Given the description of an element on the screen output the (x, y) to click on. 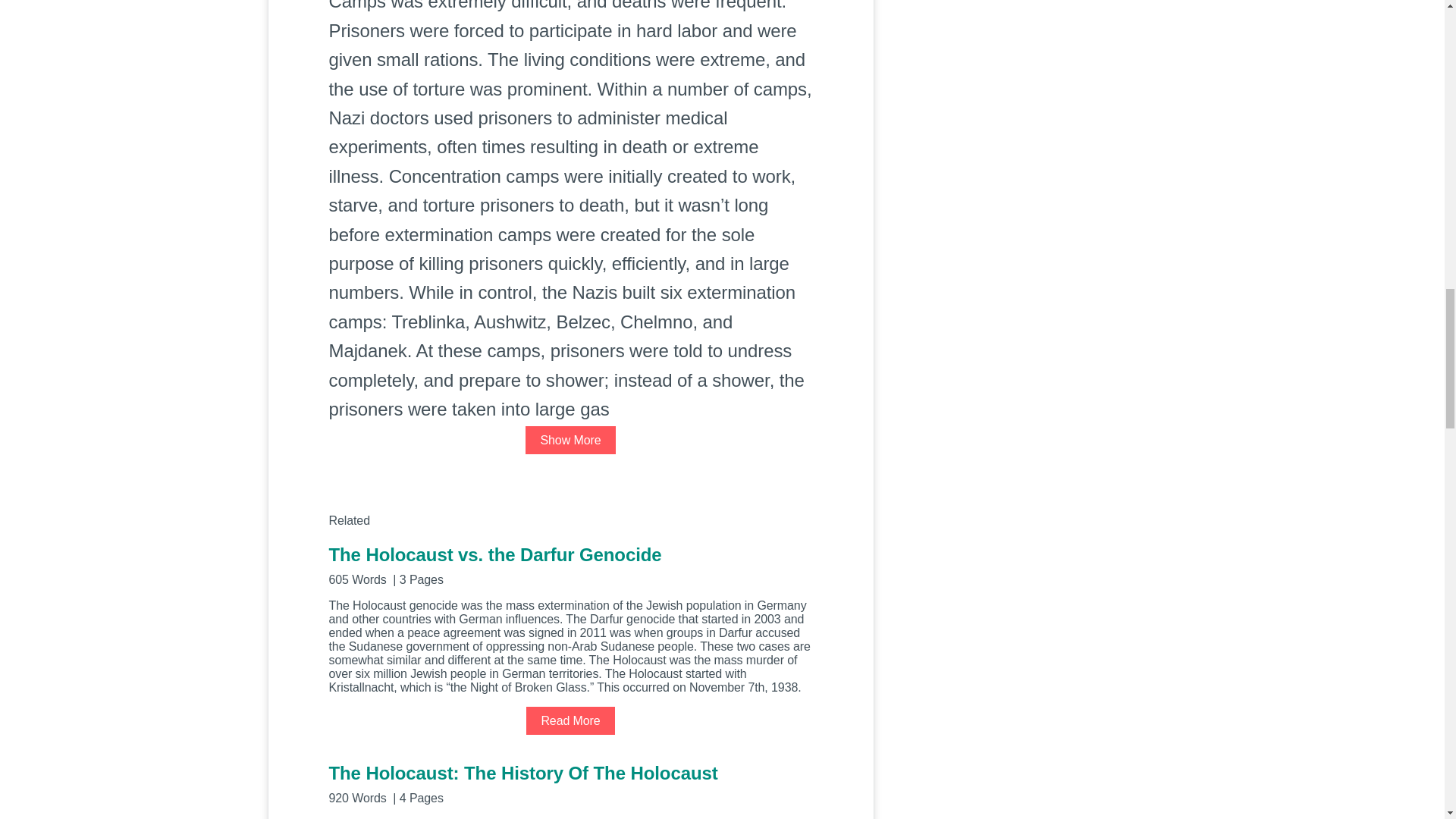
The Holocaust: The History Of The Holocaust (570, 782)
Show More (569, 439)
Read More (569, 720)
The Holocaust vs. the Darfur Genocide (570, 564)
